Given the description of an element on the screen output the (x, y) to click on. 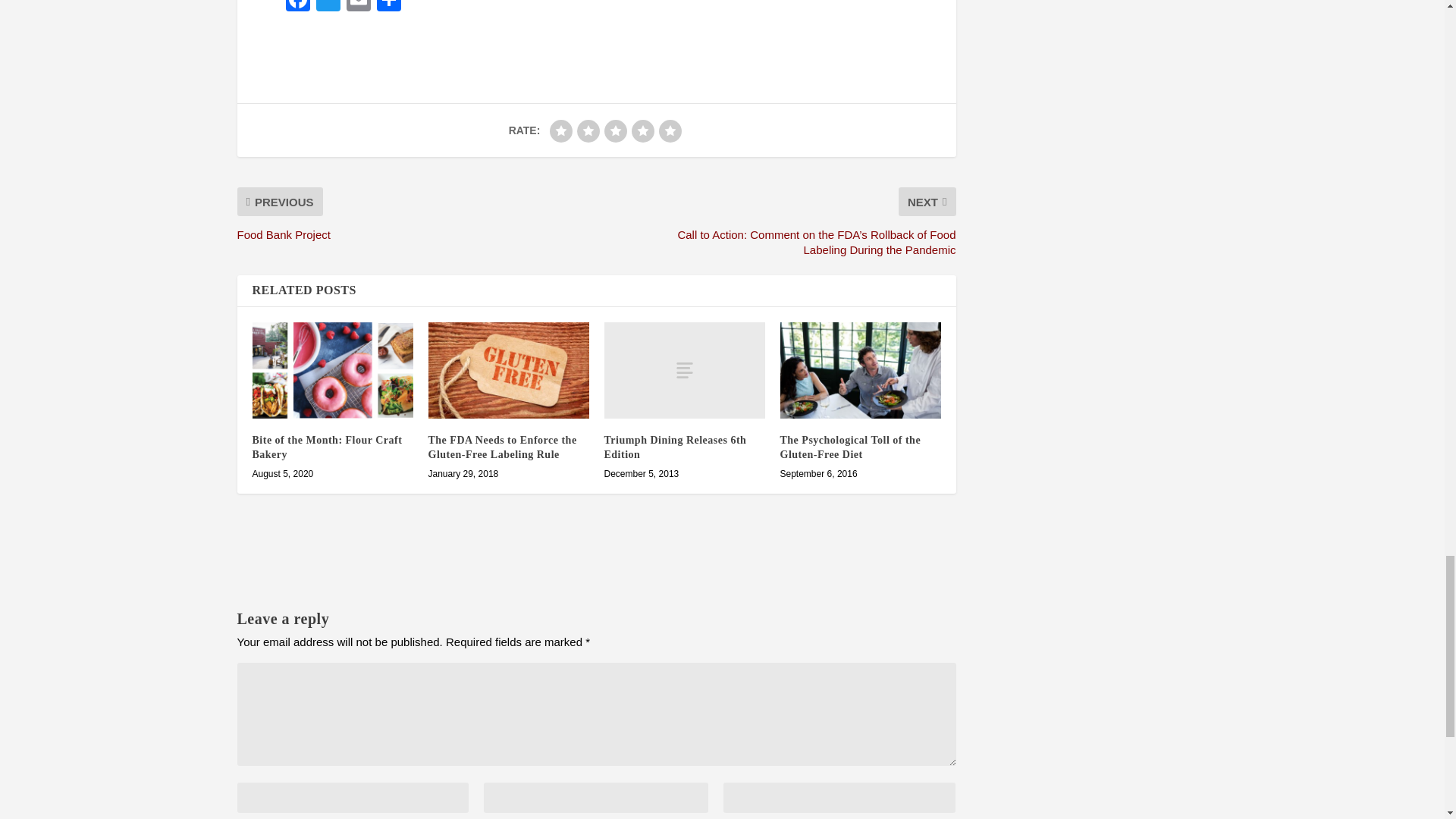
Twitter (327, 7)
Email (357, 7)
Facebook (297, 7)
